Given the description of an element on the screen output the (x, y) to click on. 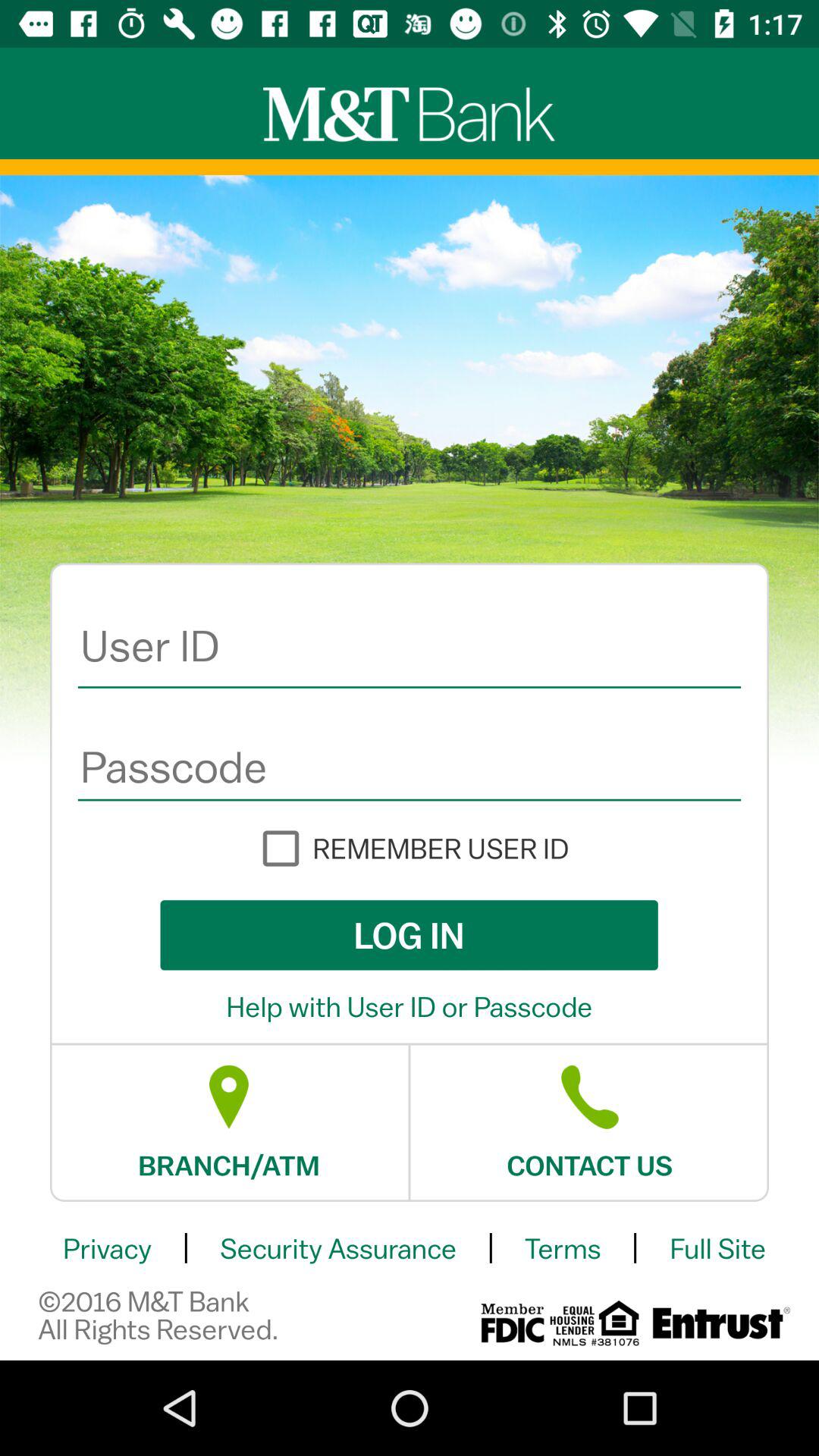
turn on item next to the 2016 m t item (511, 1322)
